Given the description of an element on the screen output the (x, y) to click on. 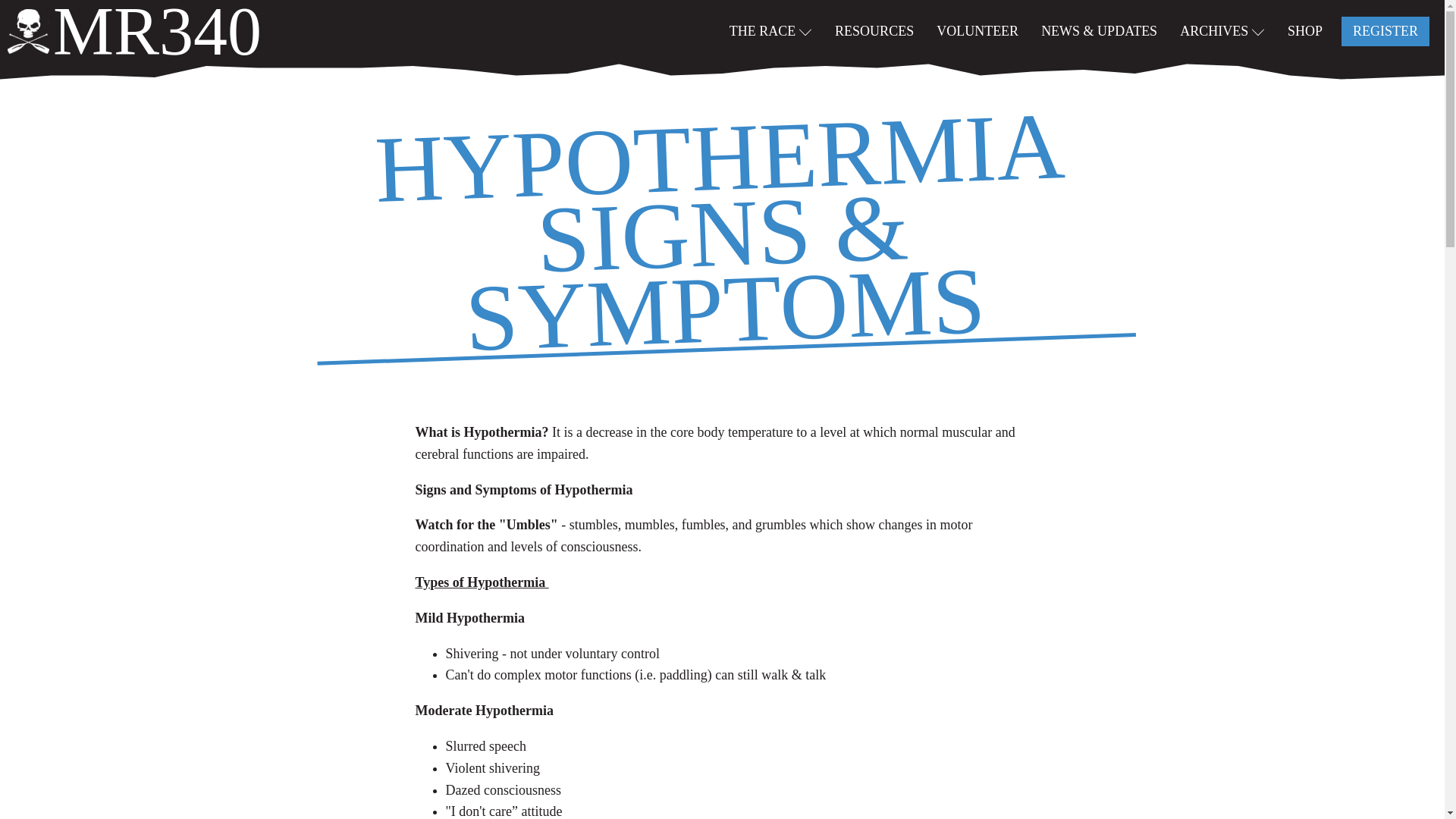
THE RACE (770, 30)
SHOP (1305, 30)
REGISTER (1384, 30)
VOLUNTEER (977, 30)
MR340 (134, 31)
RESOURCES (874, 30)
ARCHIVES (1222, 30)
